Given the description of an element on the screen output the (x, y) to click on. 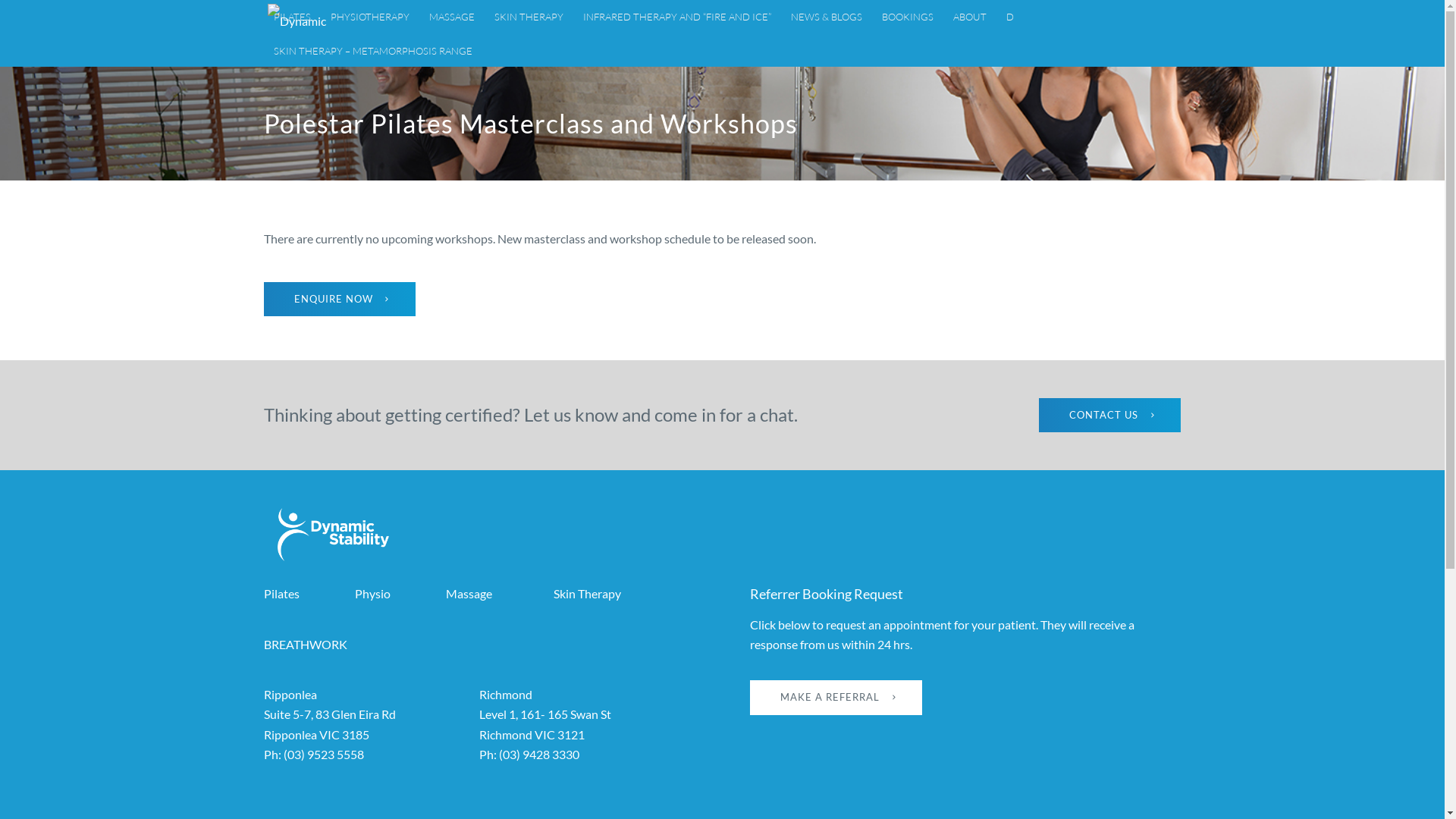
D Element type: text (1009, 17)
dynamic-stability-logo-reversed Element type: hover (333, 534)
Skin Therapy Element type: text (587, 593)
Physio Element type: text (372, 593)
CONTACT US Element type: text (1109, 415)
SKIN THERAPY Element type: text (527, 17)
BOOKINGS Element type: text (907, 17)
PILATES Element type: text (291, 17)
PHYSIOTHERAPY Element type: text (369, 17)
Massage Element type: text (468, 593)
MASSAGE Element type: text (450, 17)
ABOUT Element type: text (969, 17)
NEWS & BLOGS Element type: text (826, 17)
BREATHWORK Element type: text (305, 644)
Pilates Element type: text (281, 593)
ENQUIRE NOW Element type: text (339, 299)
Ripponlea Element type: text (289, 694)
MAKE A REFERRAL Element type: text (835, 697)
Richmond Element type: text (505, 694)
